Given the description of an element on the screen output the (x, y) to click on. 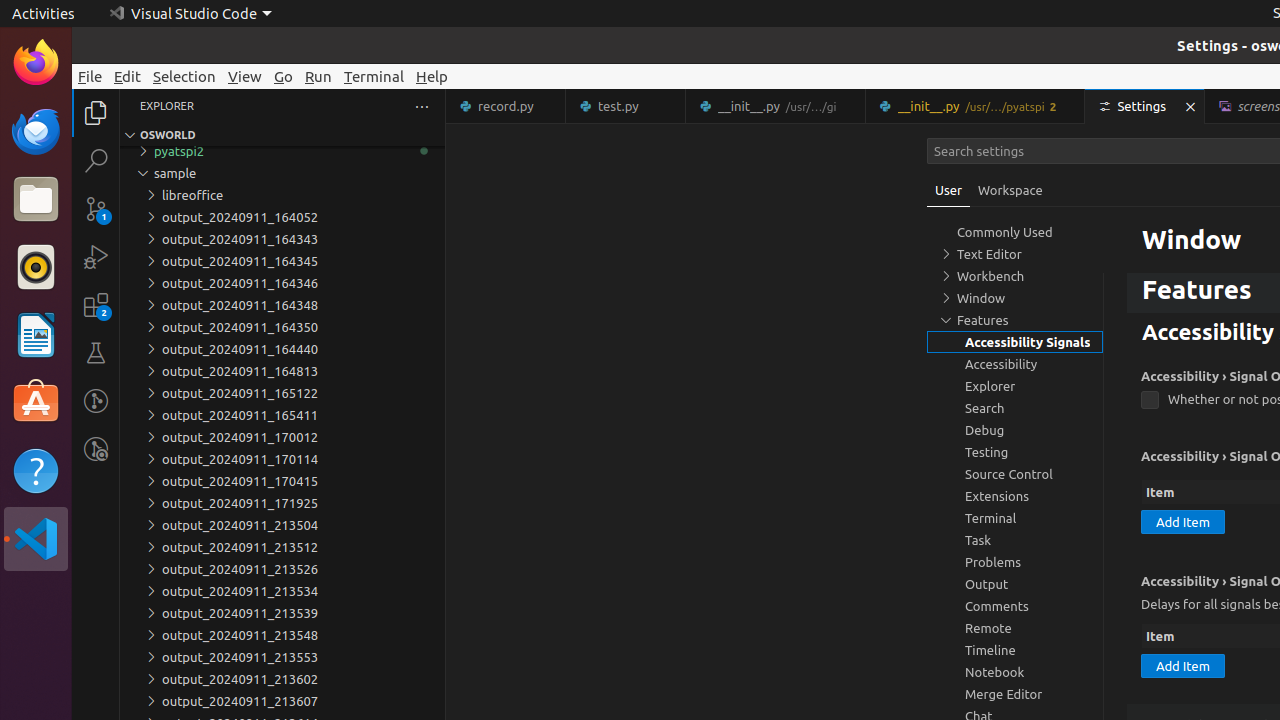
Run and Debug (Ctrl+Shift+D) Element type: page-tab (96, 257)
output_20240911_171925 Element type: tree-item (282, 503)
output_20240911_164348 Element type: tree-item (282, 305)
Window, group Element type: tree-item (1015, 298)
